Given the description of an element on the screen output the (x, y) to click on. 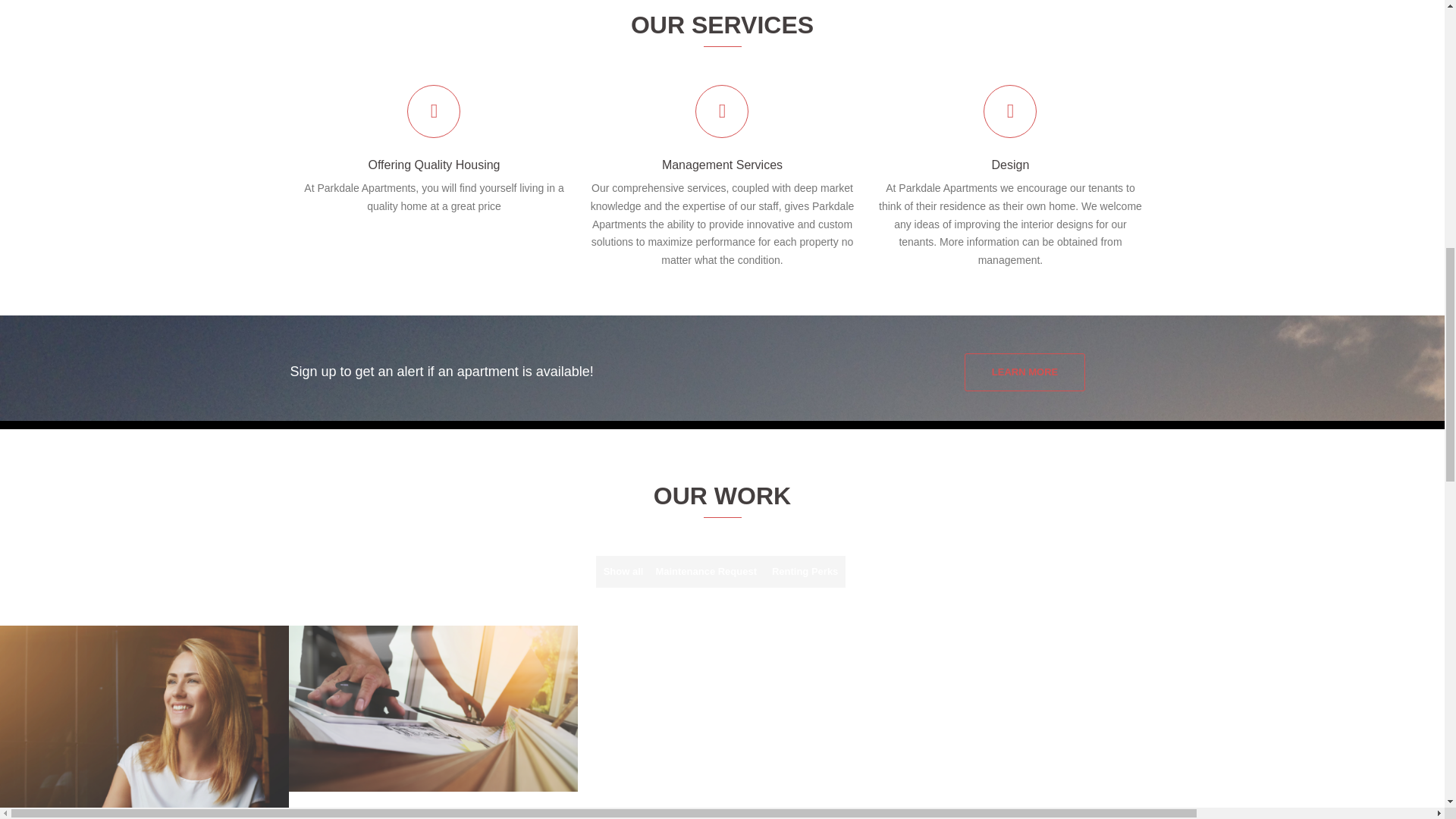
Show all (622, 572)
Maintenance Request (705, 572)
Renting Perks (804, 572)
Design (1010, 164)
LEARN MORE (1023, 371)
